Given the description of an element on the screen output the (x, y) to click on. 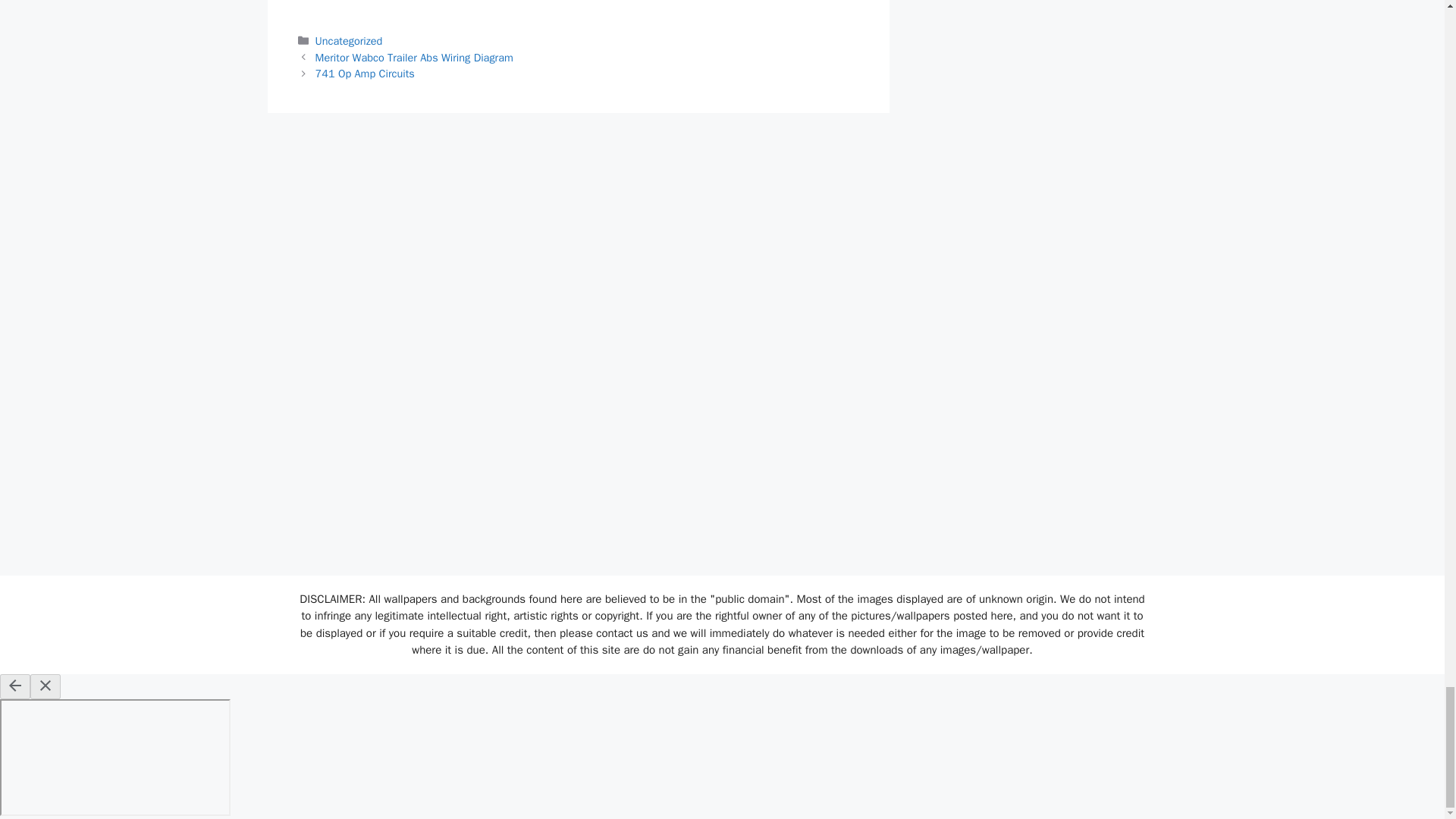
Meritor Wabco Trailer Abs Wiring Diagram (414, 57)
741 Op Amp Circuits (364, 73)
Uncategorized (348, 40)
